Given the description of an element on the screen output the (x, y) to click on. 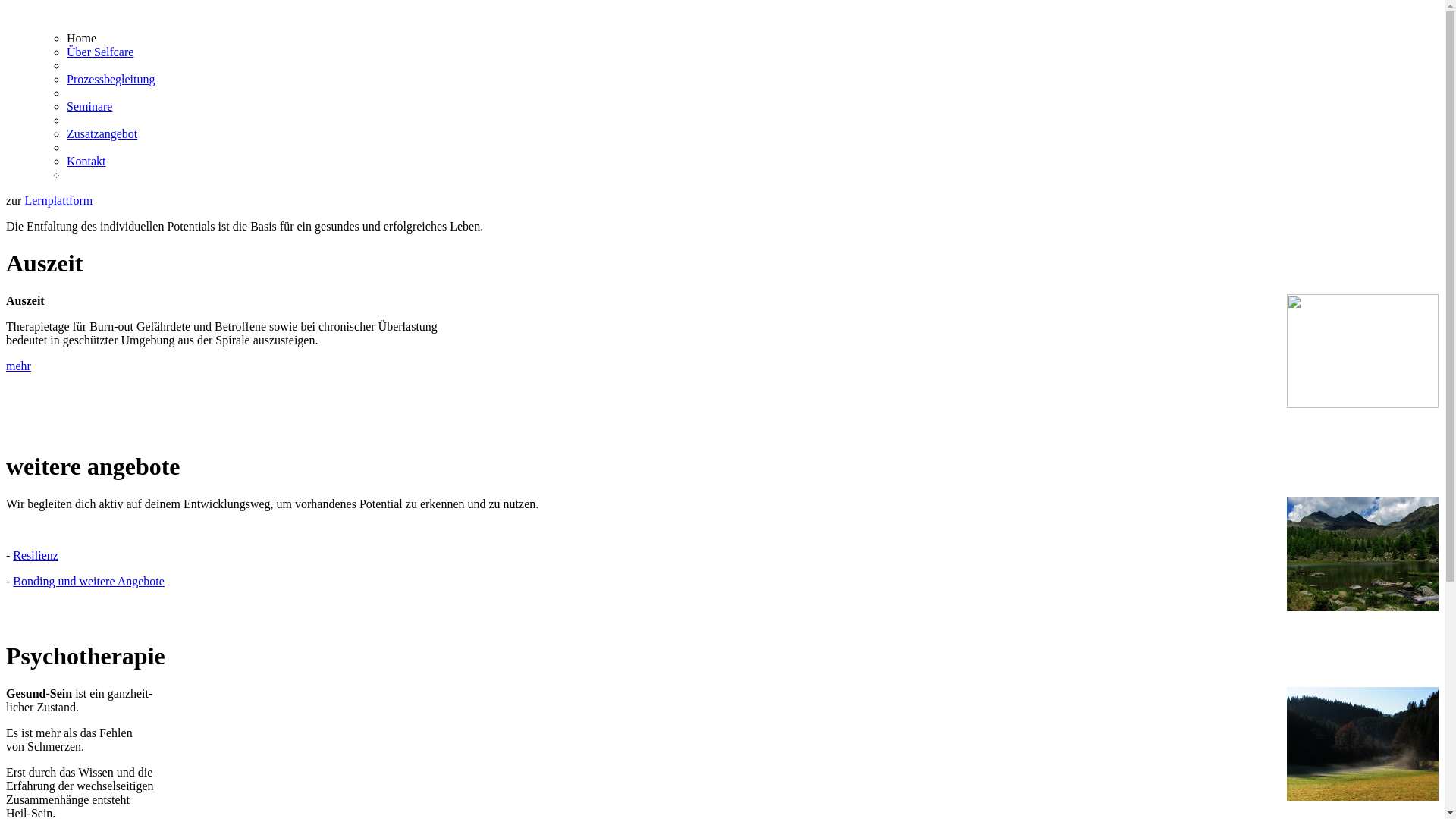
Kontakt Element type: text (86, 160)
Seminare Element type: text (89, 106)
Prozessbegleitung Element type: text (110, 78)
Zusatzangebot Element type: text (101, 133)
Bonding und weitere Angebote Element type: text (88, 580)
Resilienz Element type: text (35, 555)
mehr Element type: text (18, 365)
Lernplattform Element type: text (58, 200)
